Given the description of an element on the screen output the (x, y) to click on. 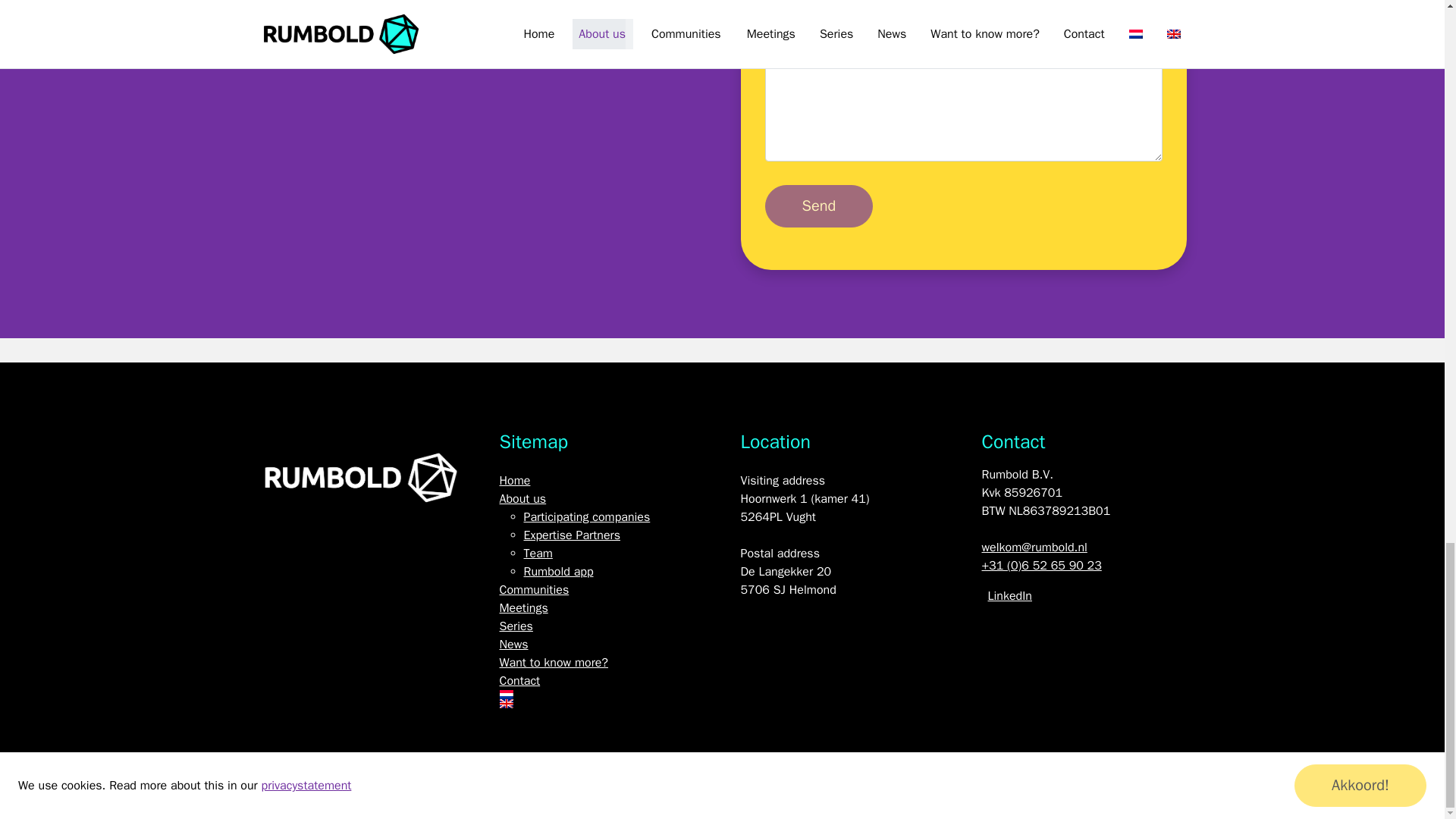
Send (818, 206)
Meetings (523, 607)
Communities (534, 589)
Rumbold app (557, 571)
Expertise Partners (571, 534)
Series (515, 626)
Participating companies (585, 516)
Send (818, 206)
About us (522, 498)
Team (536, 553)
Home (514, 480)
